Given the description of an element on the screen output the (x, y) to click on. 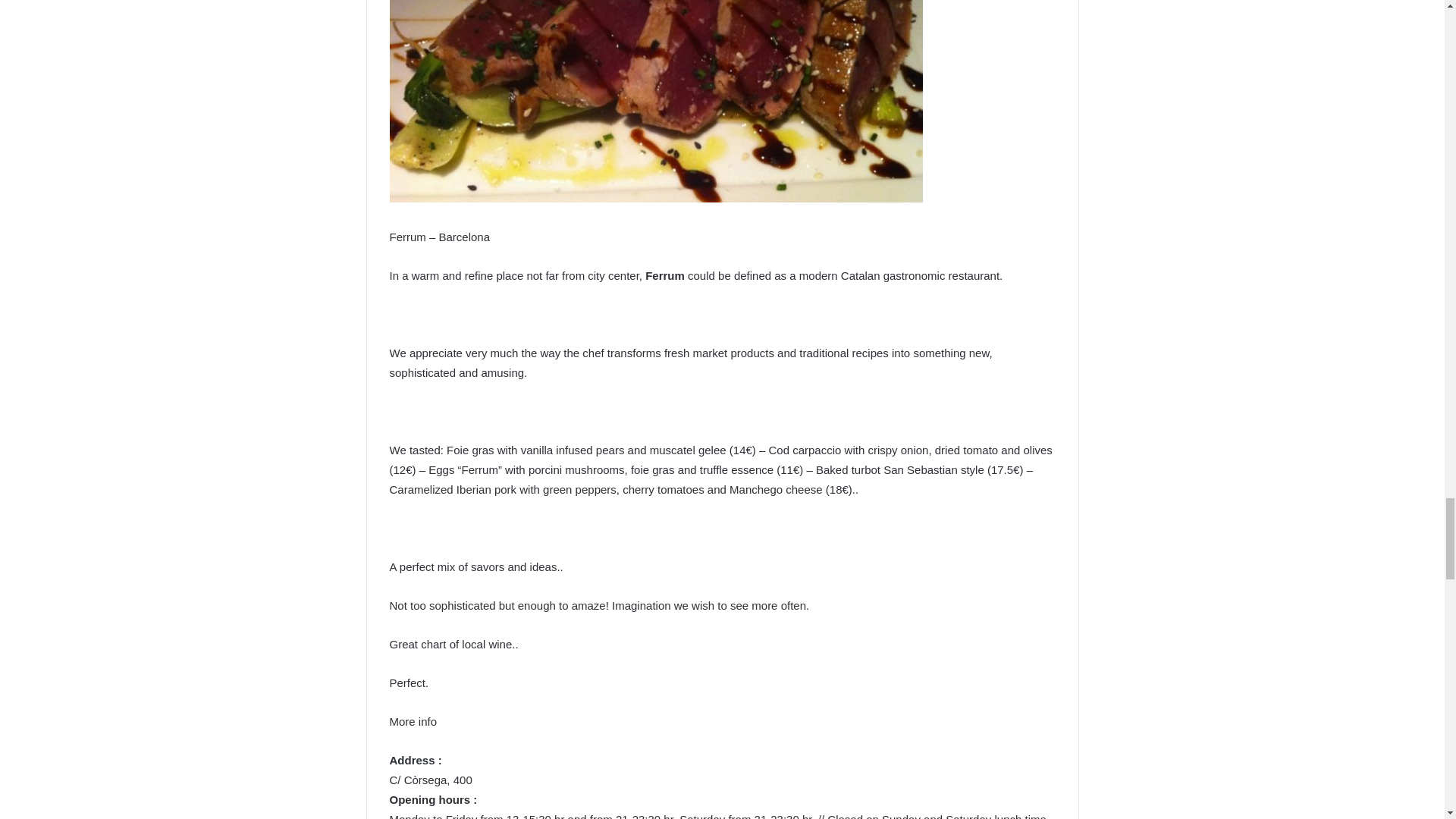
Top Traditional Catalan Restaurants in Barcelona 5 (656, 101)
